Given the description of an element on the screen output the (x, y) to click on. 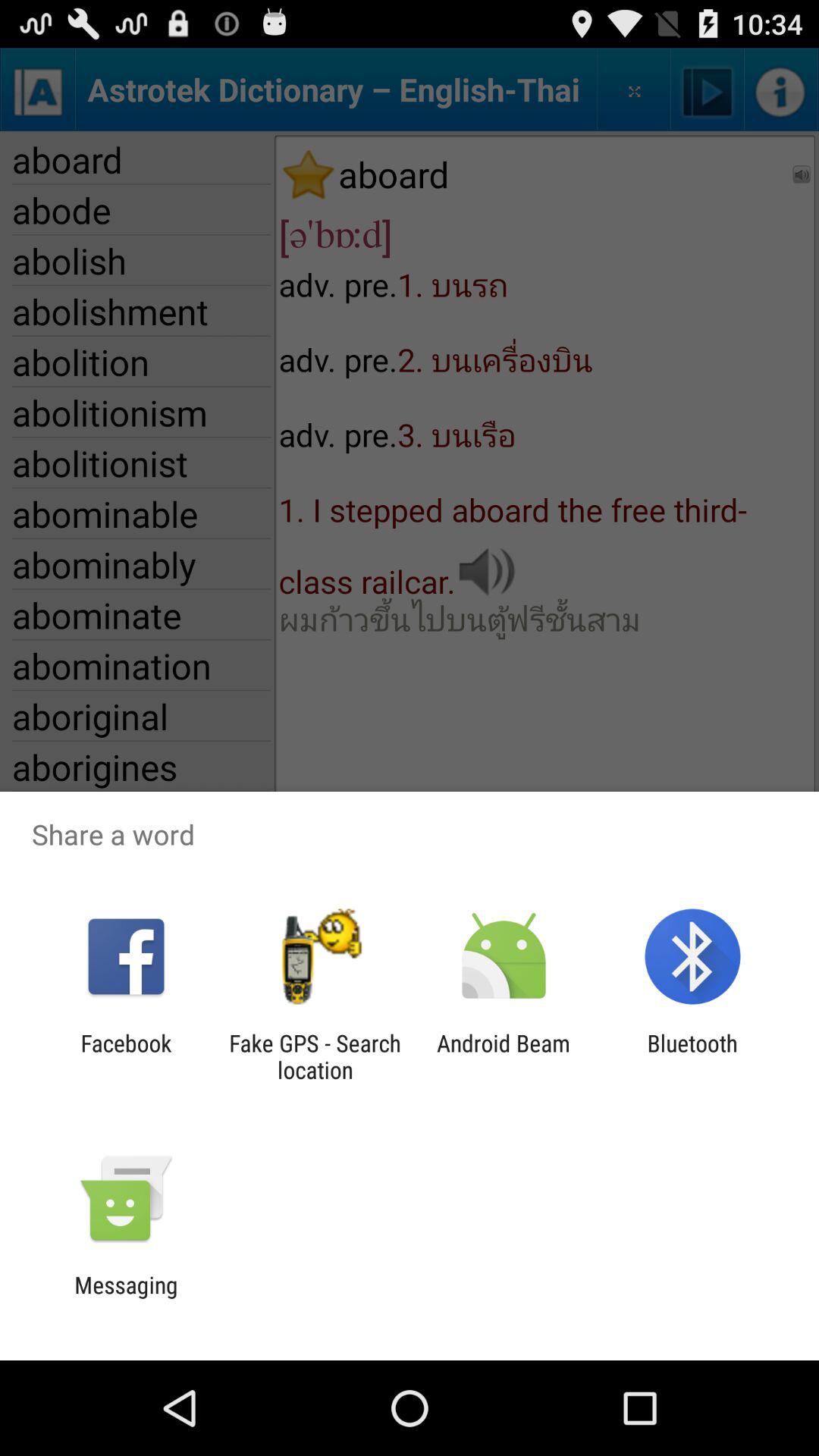
launch the icon next to android beam item (692, 1056)
